Given the description of an element on the screen output the (x, y) to click on. 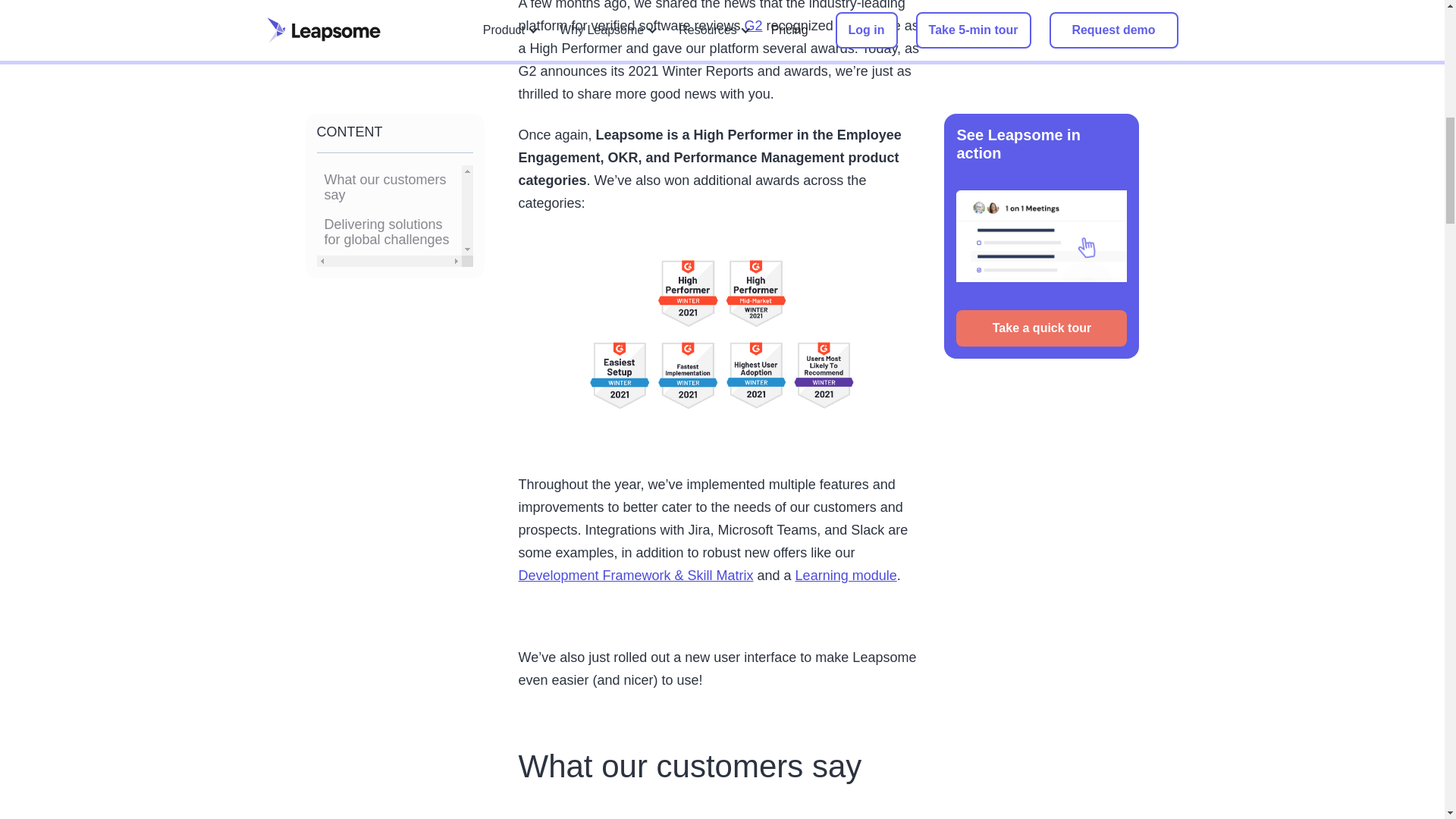
Learning module (845, 575)
Delivering solutions for global challenges (390, 103)
G2 (753, 25)
What our customers say (390, 58)
